Given the description of an element on the screen output the (x, y) to click on. 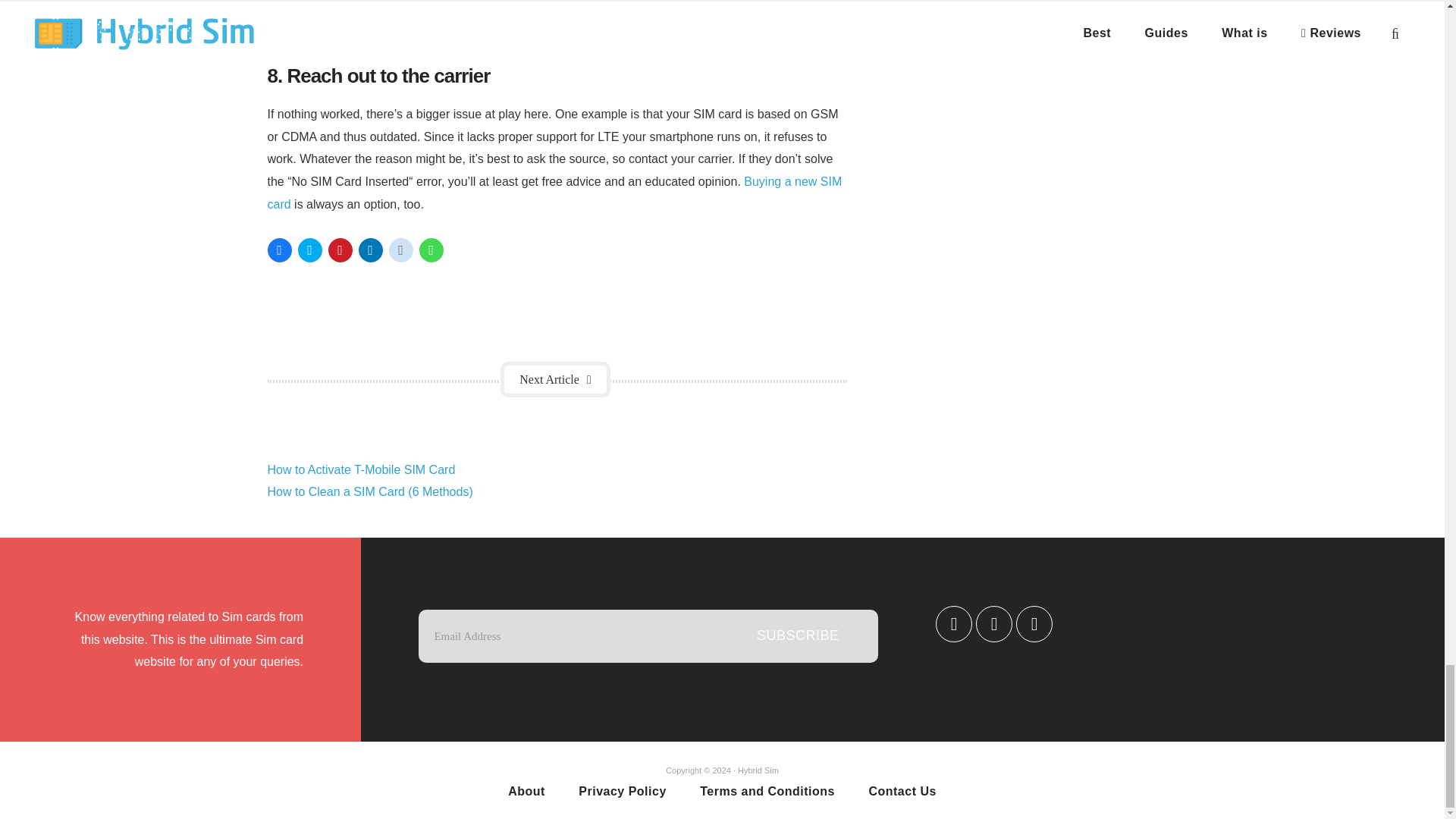
Buying a new SIM card (553, 192)
Click to share on Twitter (309, 250)
Click to share on LinkedIn (369, 250)
Click to share on WhatsApp (430, 250)
Click to share on Facebook (278, 250)
Click to share on Pinterest (339, 250)
Click to share on Reddit (400, 250)
